Given the description of an element on the screen output the (x, y) to click on. 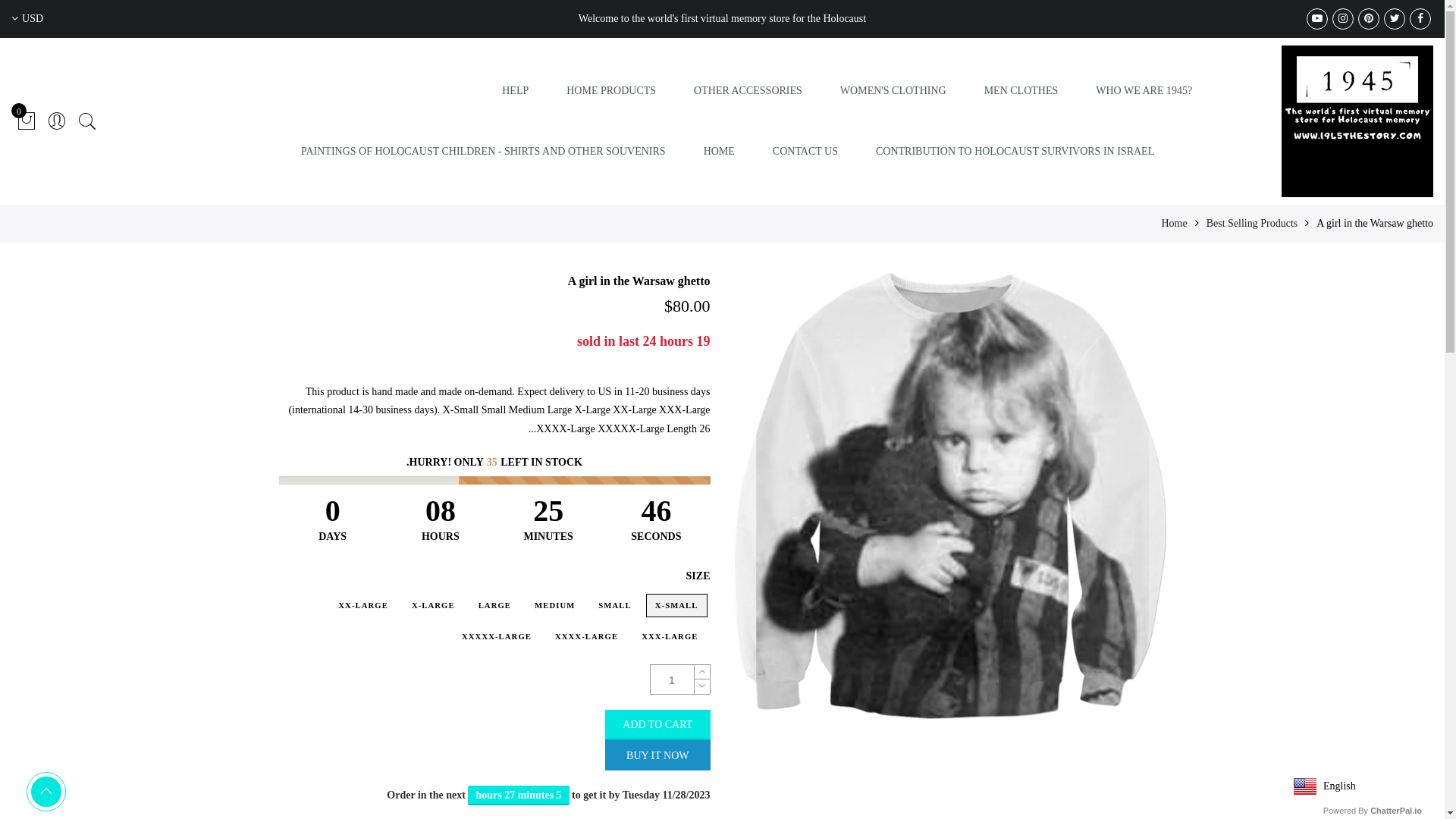
PAINTINGS OF HOLOCAUST CHILDREN - SHIRTS AND OTHER SOUVENIRS Element type: text (483, 150)
CONTRIBUTION TO HOLOCAUST SURVIVORS IN ISRAEL Element type: text (1014, 150)
MEN CLOTHES Element type: text (1021, 90)
Best Selling Products Element type: text (1252, 223)
Powered By ChatterPal.io Element type: text (1372, 810)
WOMEN'S CLOTHING Element type: text (893, 90)
HOME PRODUCTS Element type: text (610, 90)
BUY IT NOW Element type: text (657, 755)
Qty Element type: hover (672, 679)
OTHER ACCESSORIES Element type: text (747, 90)
HOME Element type: text (718, 150)
HELP Element type: text (515, 90)
ADD TO CART Element type: text (657, 724)
CONTACT US Element type: text (804, 150)
?WHO WE ARE 1945 Element type: text (1143, 90)
Home Element type: text (1173, 223)
0 Element type: text (26, 121)
